Given the description of an element on the screen output the (x, y) to click on. 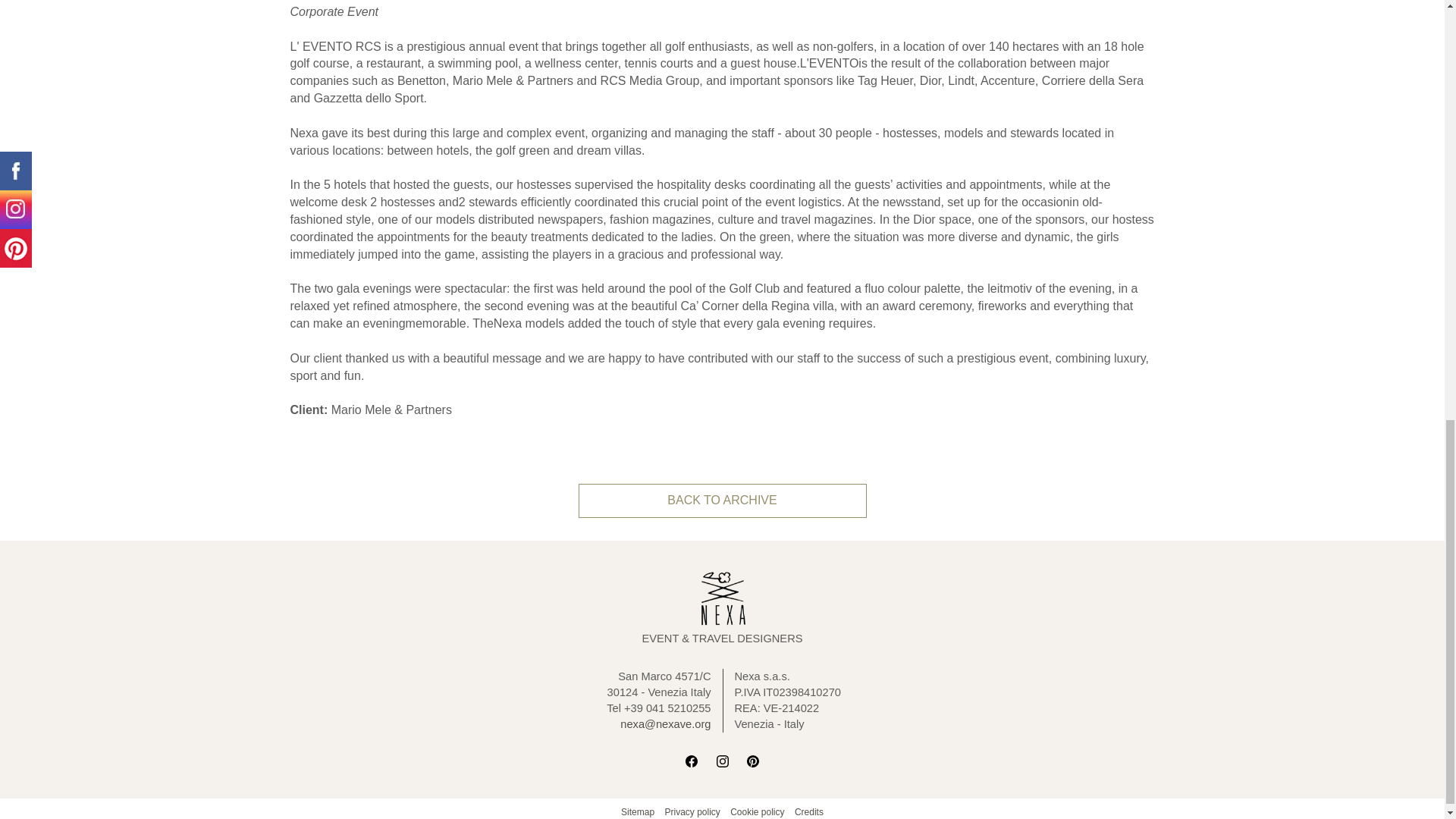
Sitemap (637, 811)
Privacy policy (691, 811)
Cookie policy (757, 811)
BACK TO ARCHIVE (722, 500)
Credits (809, 811)
